Given the description of an element on the screen output the (x, y) to click on. 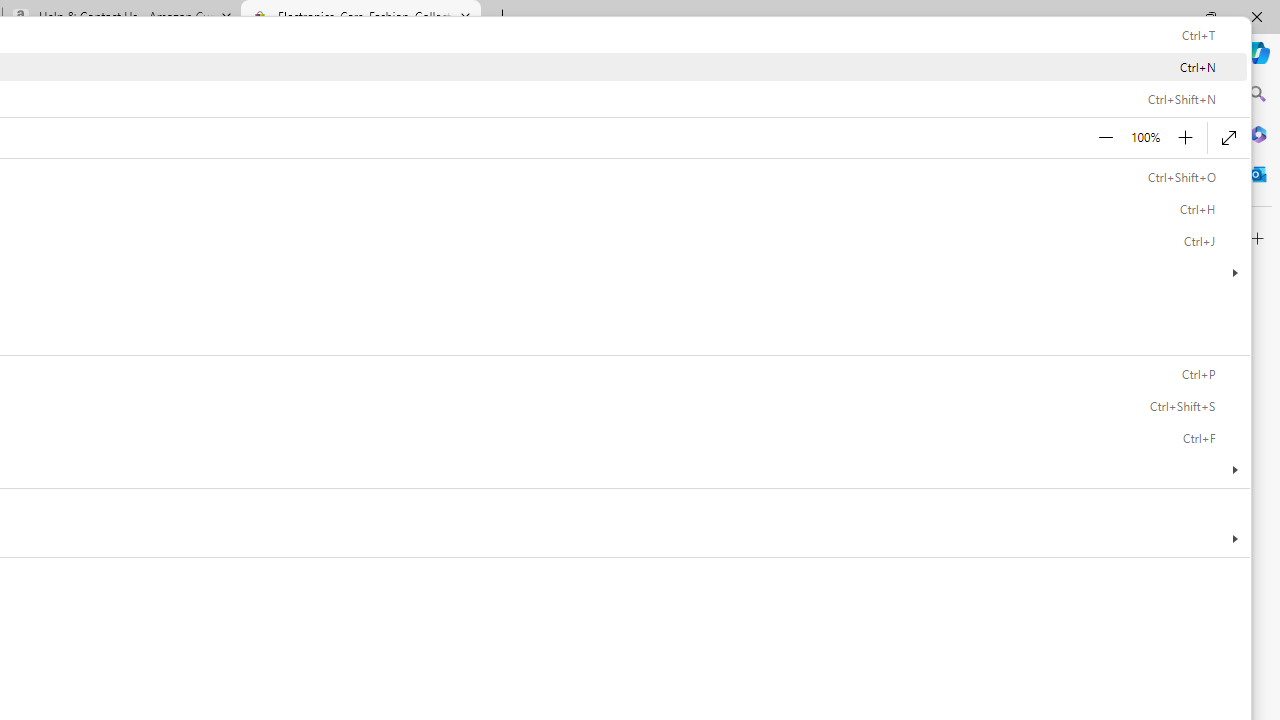
Industrial equipmentExpand: Industrial equipment (176, 199)
Notifications (525, 86)
Sell (296, 84)
WatchlistExpand Watch List (362, 86)
Industrial equipment (177, 198)
Zoom out (Ctrl+Minus key) (1105, 137)
Sell (452, 198)
Advanced Search (563, 139)
Zoom in (Ctrl+Plus key) (1185, 137)
Ship to (231, 85)
My eBayExpand My eBay (453, 86)
AutomationID: gh-eb-Alerts (527, 86)
